Given the description of an element on the screen output the (x, y) to click on. 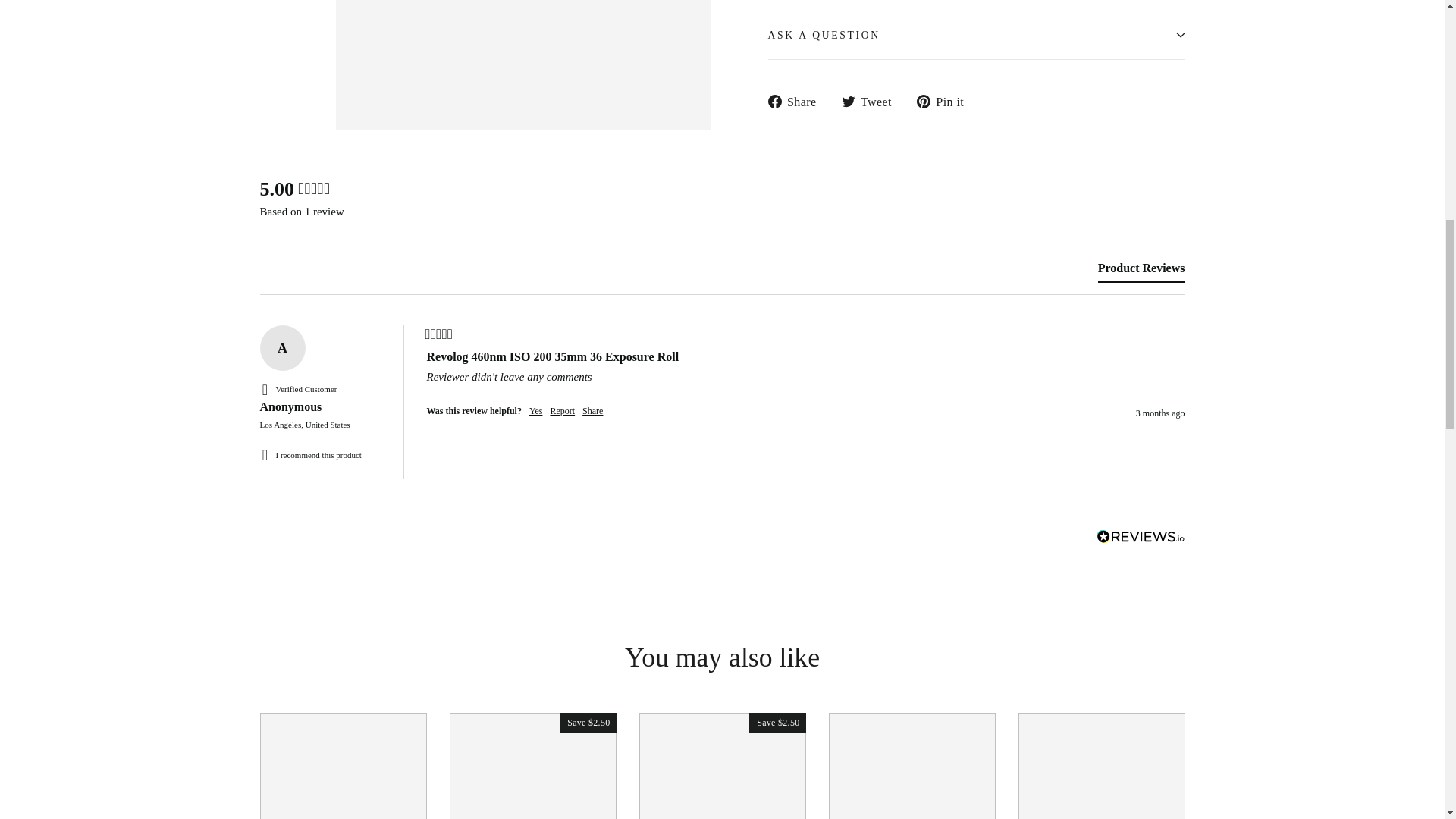
Share on Facebook (797, 100)
5.00 Stars (314, 189)
5 Stars (438, 334)
Tweet on Twitter (871, 100)
Pin on Pinterest (946, 100)
